Given the description of an element on the screen output the (x, y) to click on. 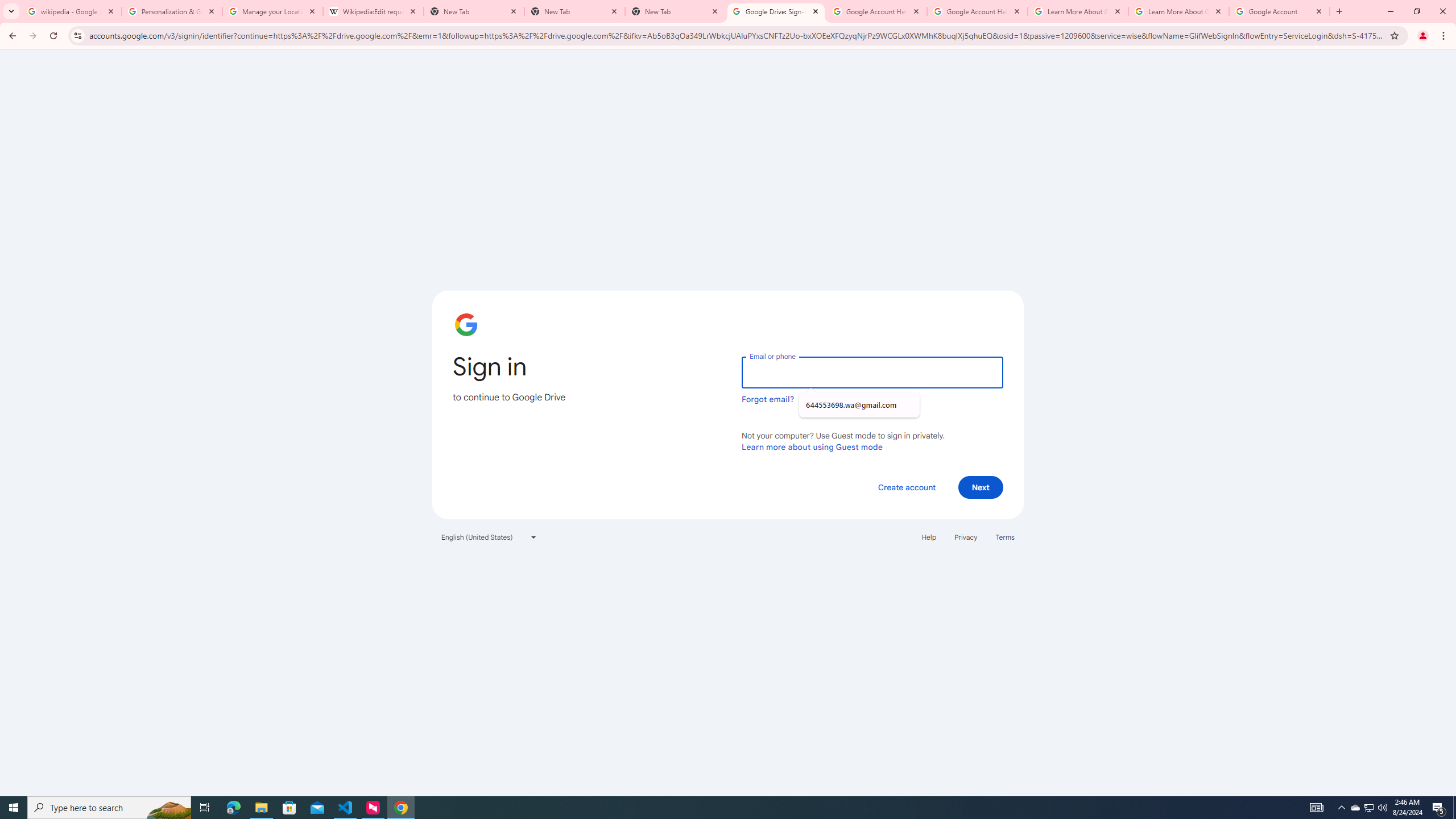
Email or phone (871, 372)
Google Account Help (976, 11)
Forgot email? (767, 398)
New Tab (574, 11)
644553698.wa@gmail.com (858, 404)
